Given the description of an element on the screen output the (x, y) to click on. 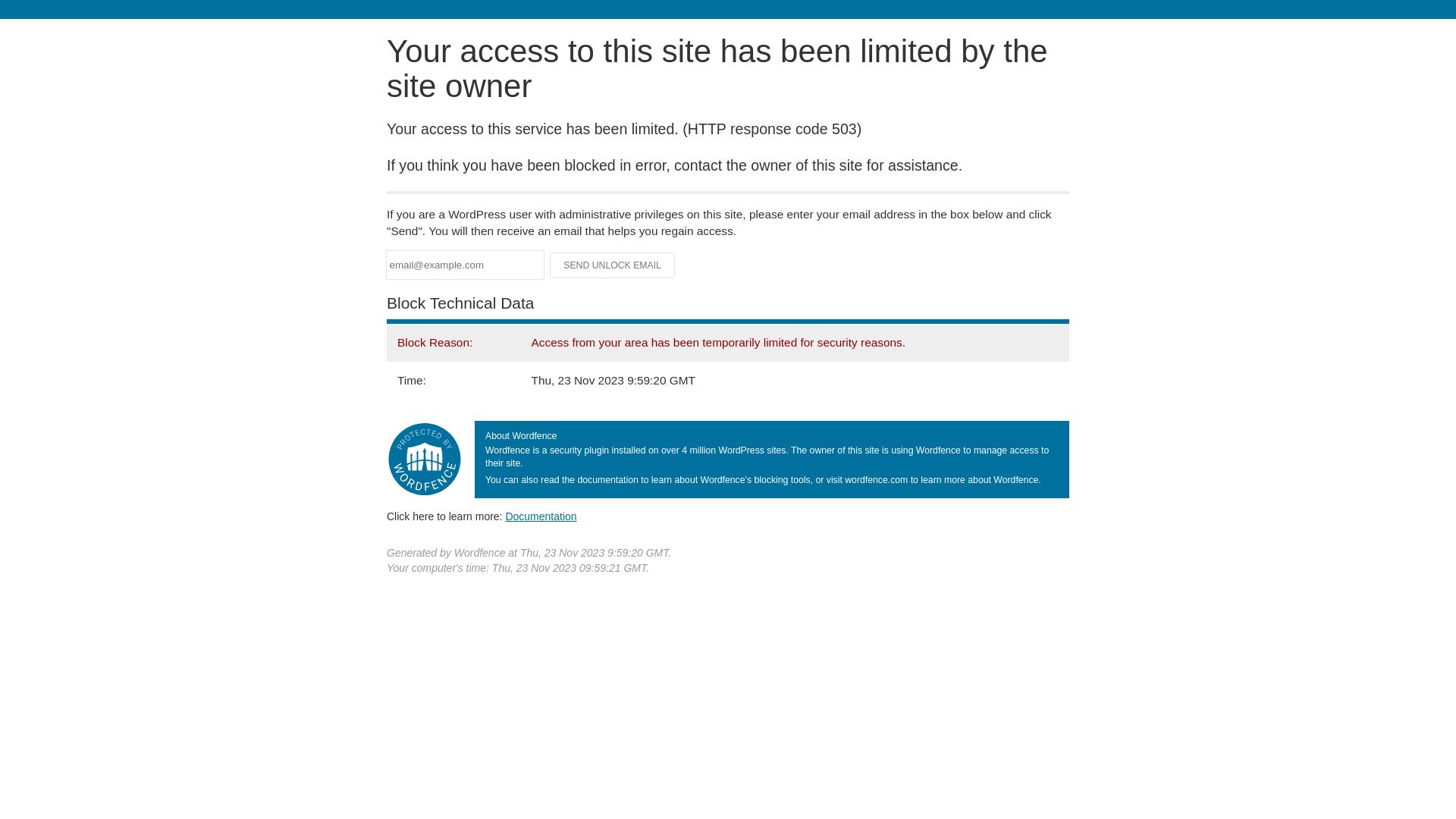
Documentation Element type: text (540, 516)
Send Unlock Email Element type: text (612, 265)
